Given the description of an element on the screen output the (x, y) to click on. 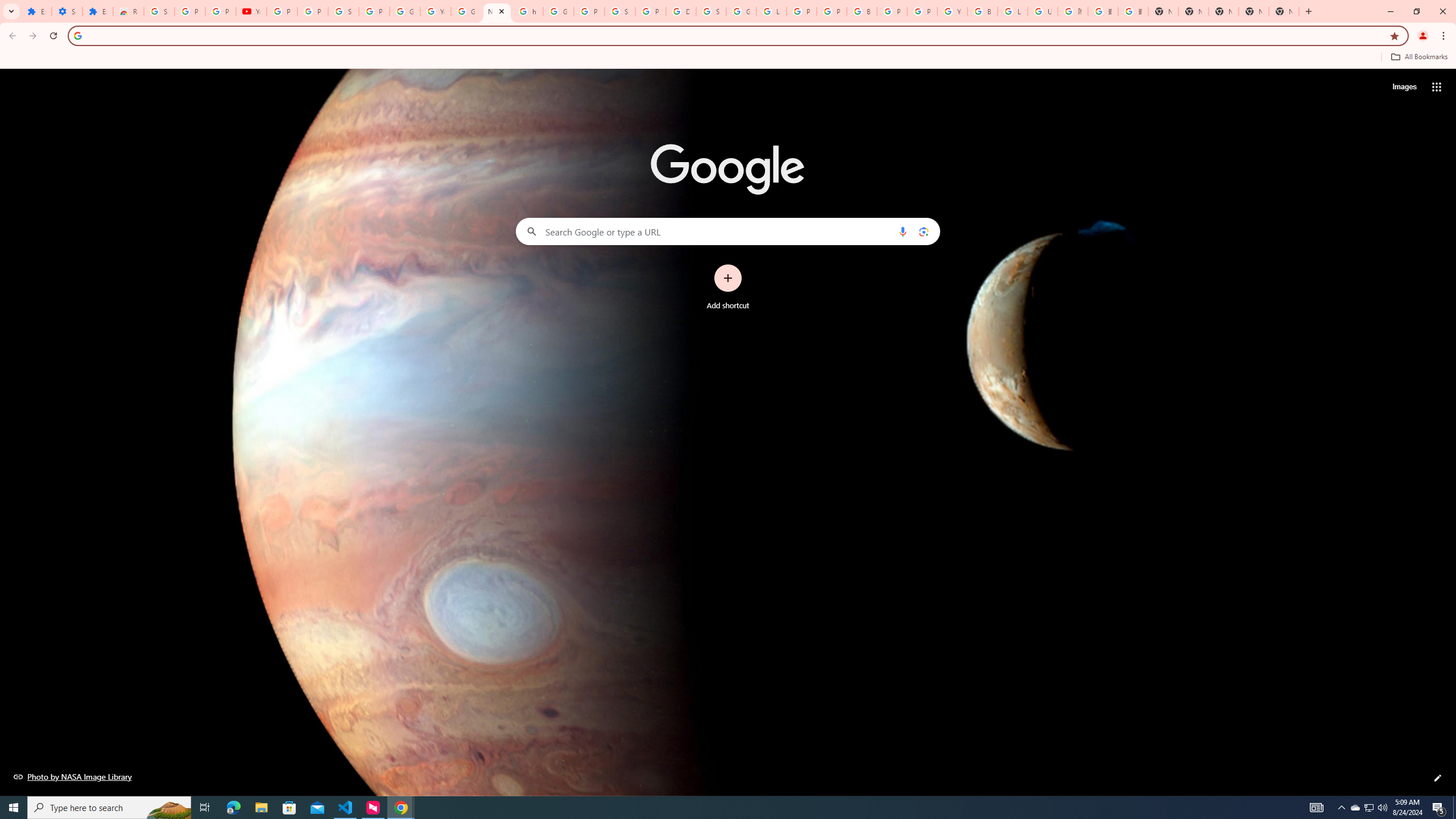
Extensions (36, 11)
Reviews: Helix Fruit Jump Arcade Game (127, 11)
New Tab (1162, 11)
Search by voice (902, 230)
Customize this page (1437, 778)
Delete specific Google services or your Google Account (681, 11)
Privacy Help Center - Policies Help (801, 11)
Settings (66, 11)
